Given the description of an element on the screen output the (x, y) to click on. 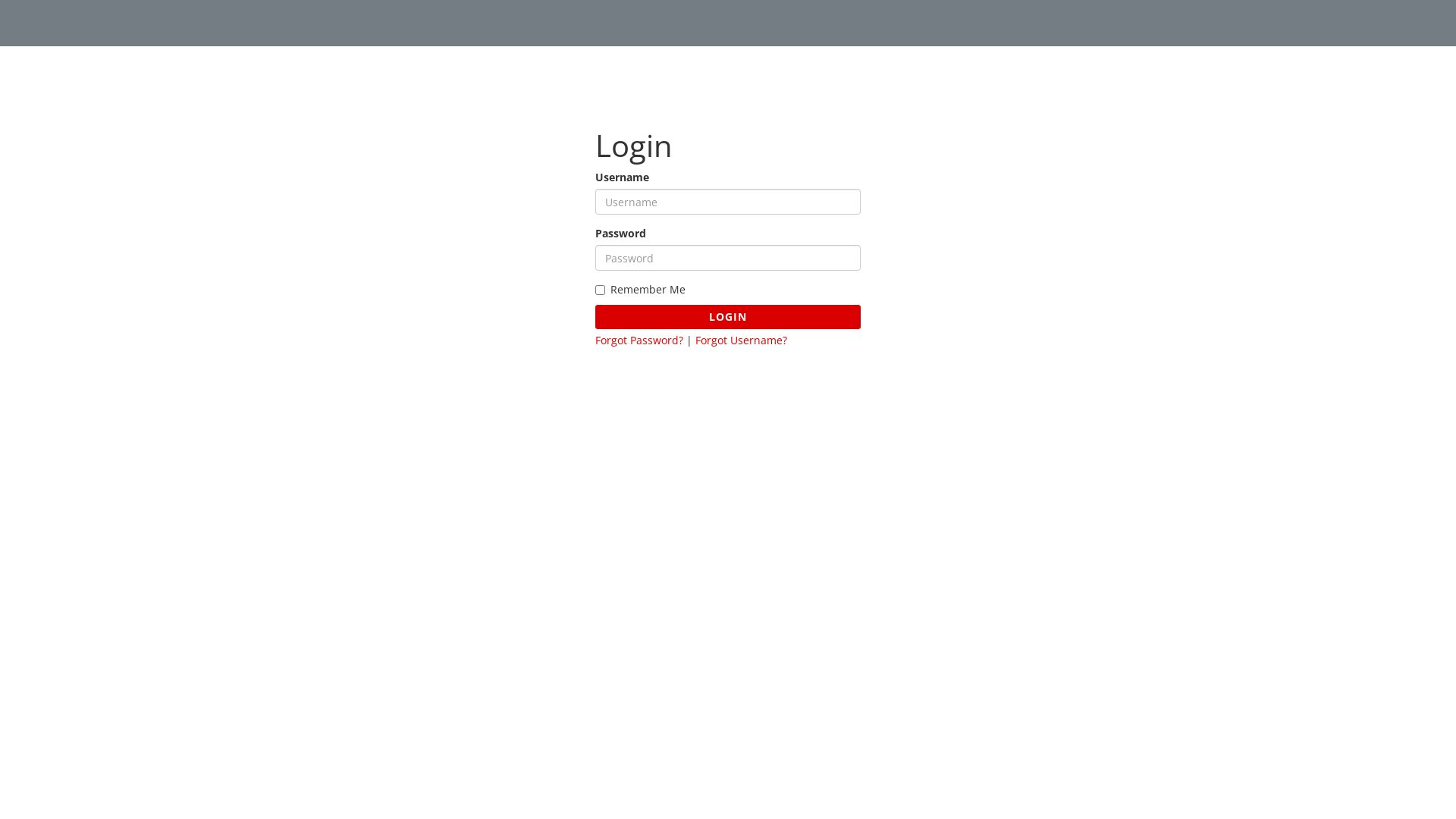
Forgot Username? Element type: text (741, 339)
LOGIN Element type: text (727, 316)
Forgot Password? Element type: text (639, 339)
